Given the description of an element on the screen output the (x, y) to click on. 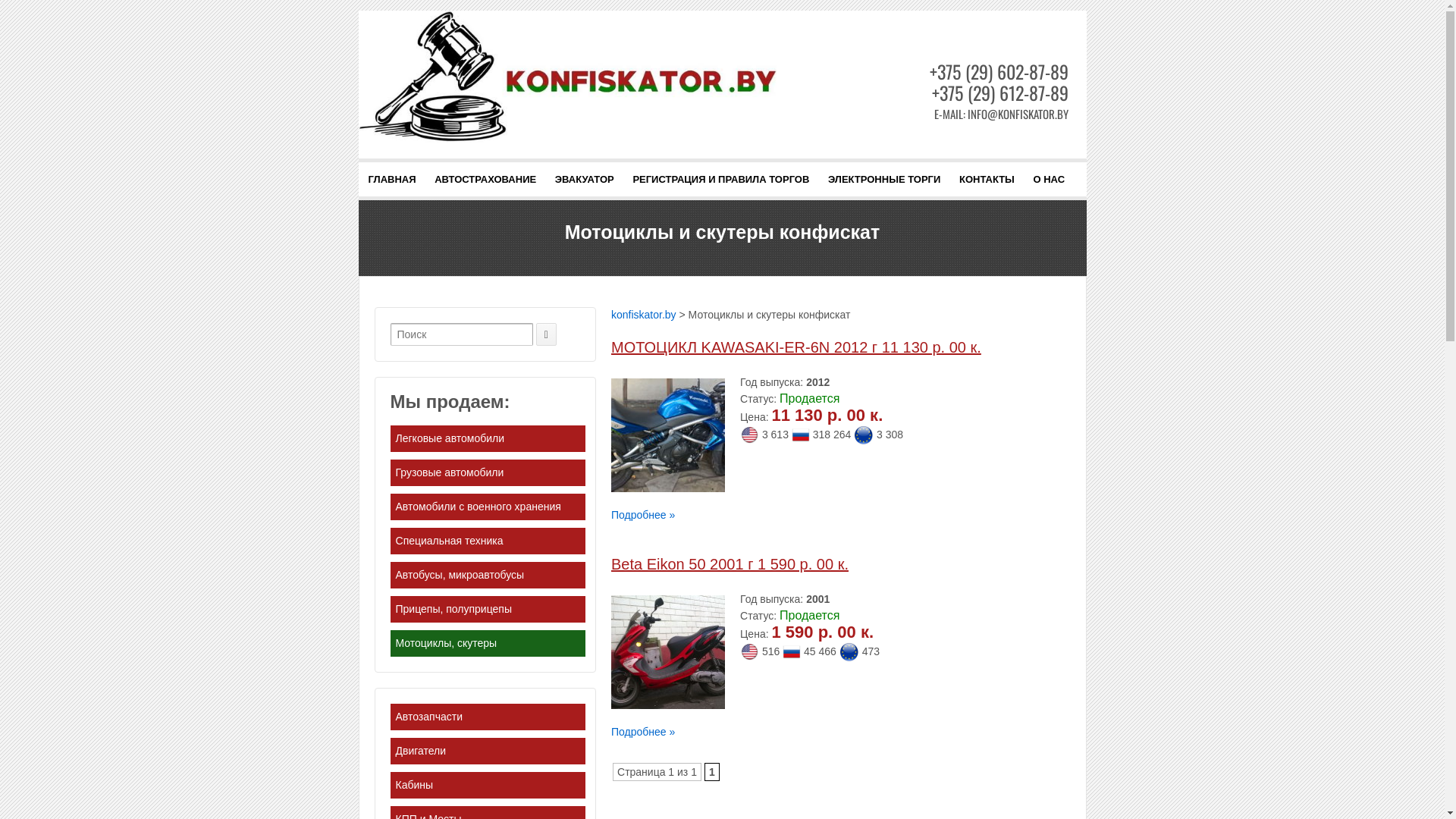
konfiskator.by Element type: text (643, 314)
